Given the description of an element on the screen output the (x, y) to click on. 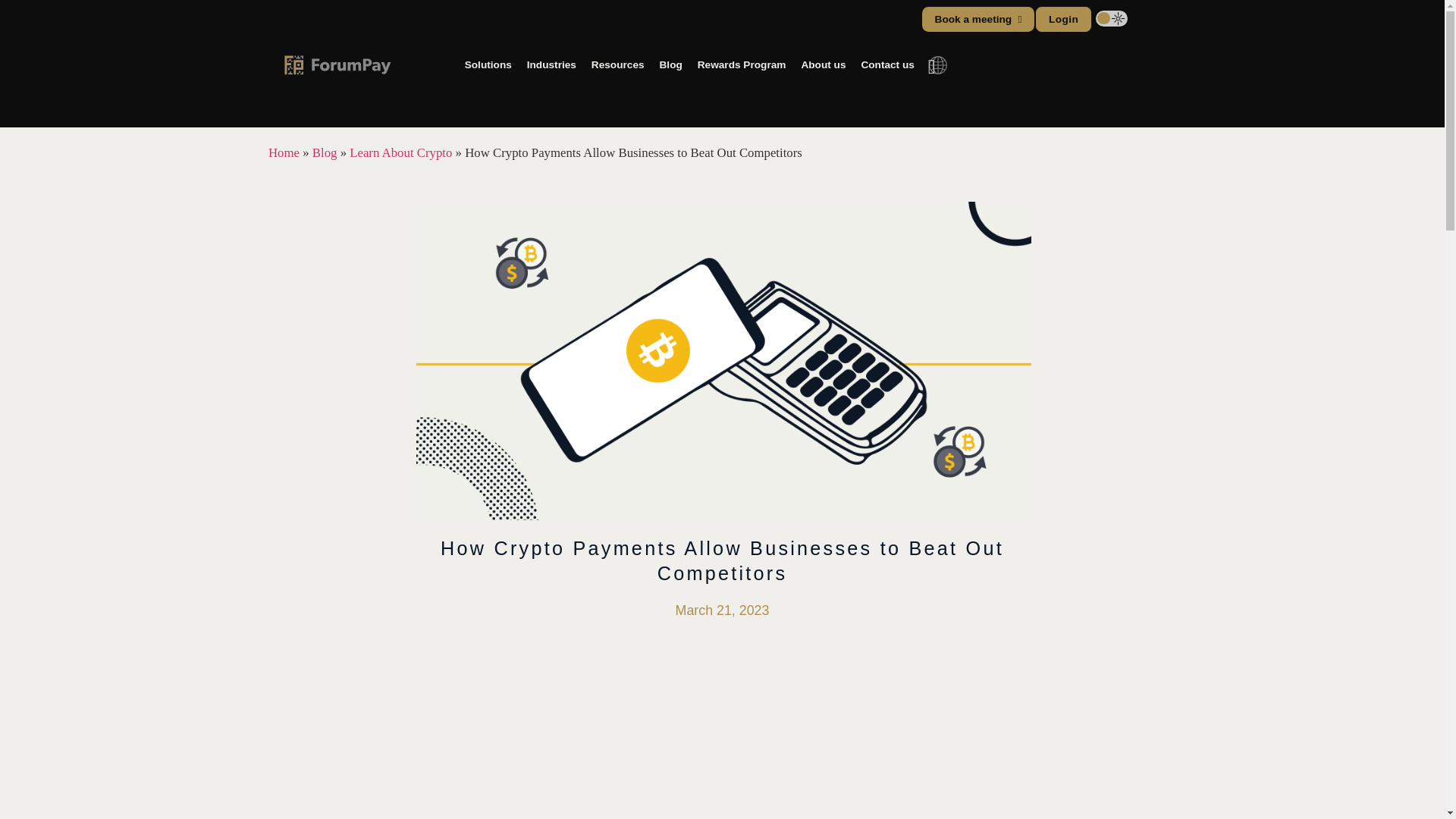
Contact us (844, 61)
Industries (525, 61)
Resources (588, 61)
Blog (638, 61)
About us (783, 61)
Logo Forumpay new v2 (321, 61)
Solutions (464, 61)
Rewards Program (706, 61)
